Given the description of an element on the screen output the (x, y) to click on. 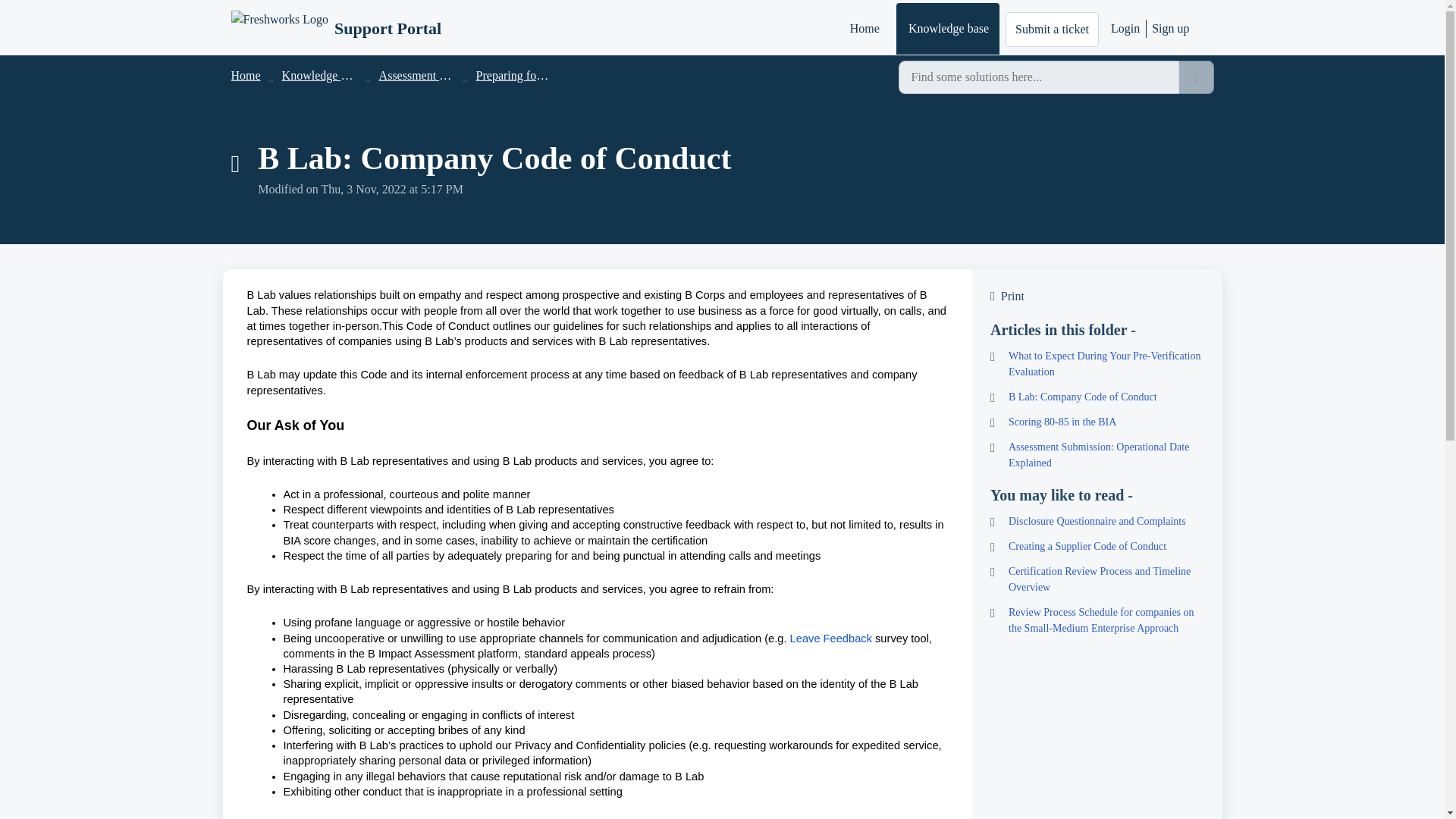
Knowledge base (947, 28)
Preparing for Assessment Verification (568, 74)
Disclosure Questionnaire and Complaints (1097, 521)
Scoring 80-85 in the BIA (1097, 421)
Home (245, 74)
Knowledge base (322, 74)
B Lab: Company Code of Conduct (1097, 396)
Assessment Review Process (447, 74)
Support Portal (387, 28)
Assessment Submission: Operational Date Explained (1097, 454)
